Given the description of an element on the screen output the (x, y) to click on. 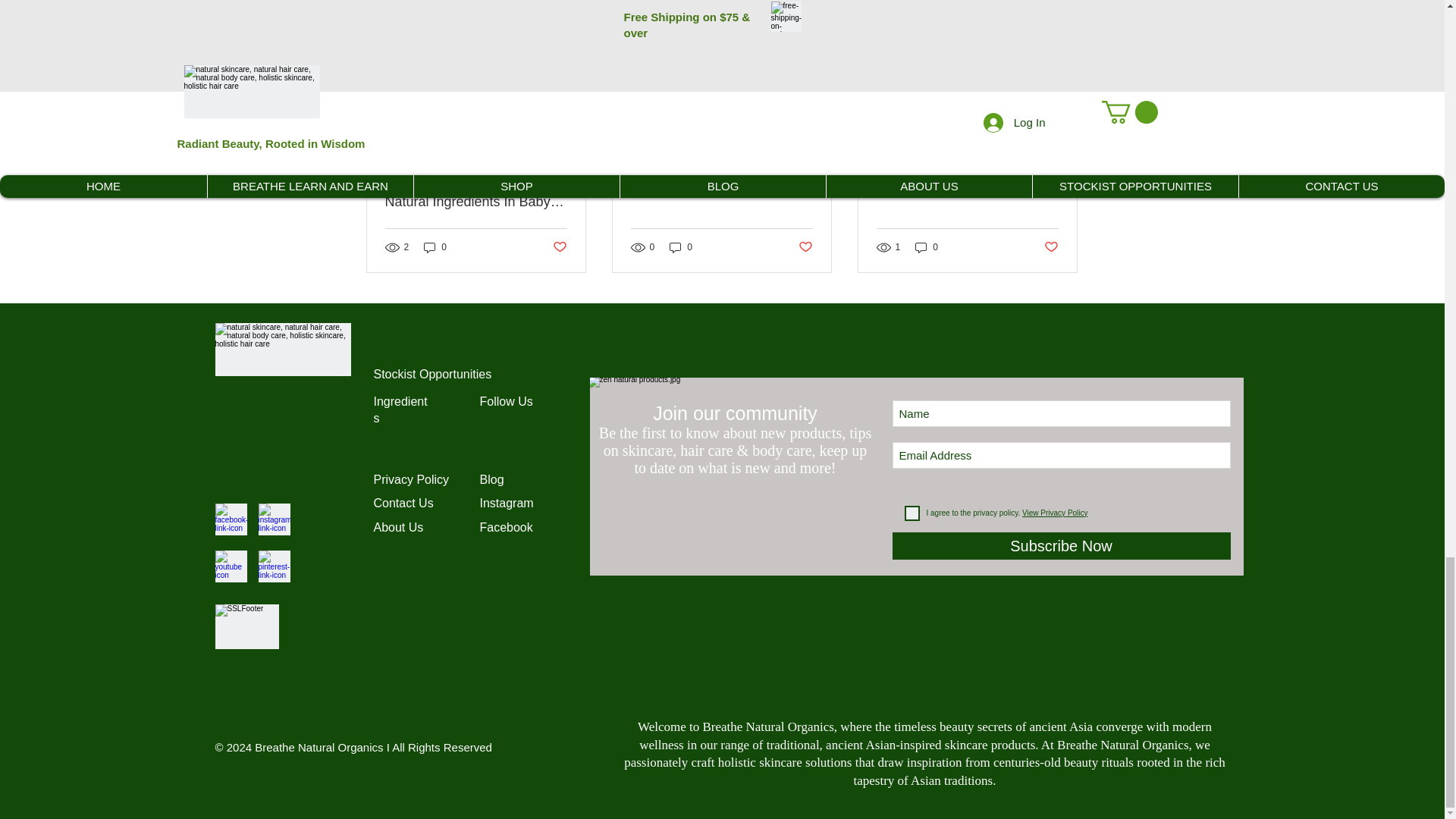
0 (435, 247)
The Importance Of Using Natural Ingredients In Baby Products (476, 193)
Post not marked as liked (558, 247)
See All (1061, 10)
